Given the description of an element on the screen output the (x, y) to click on. 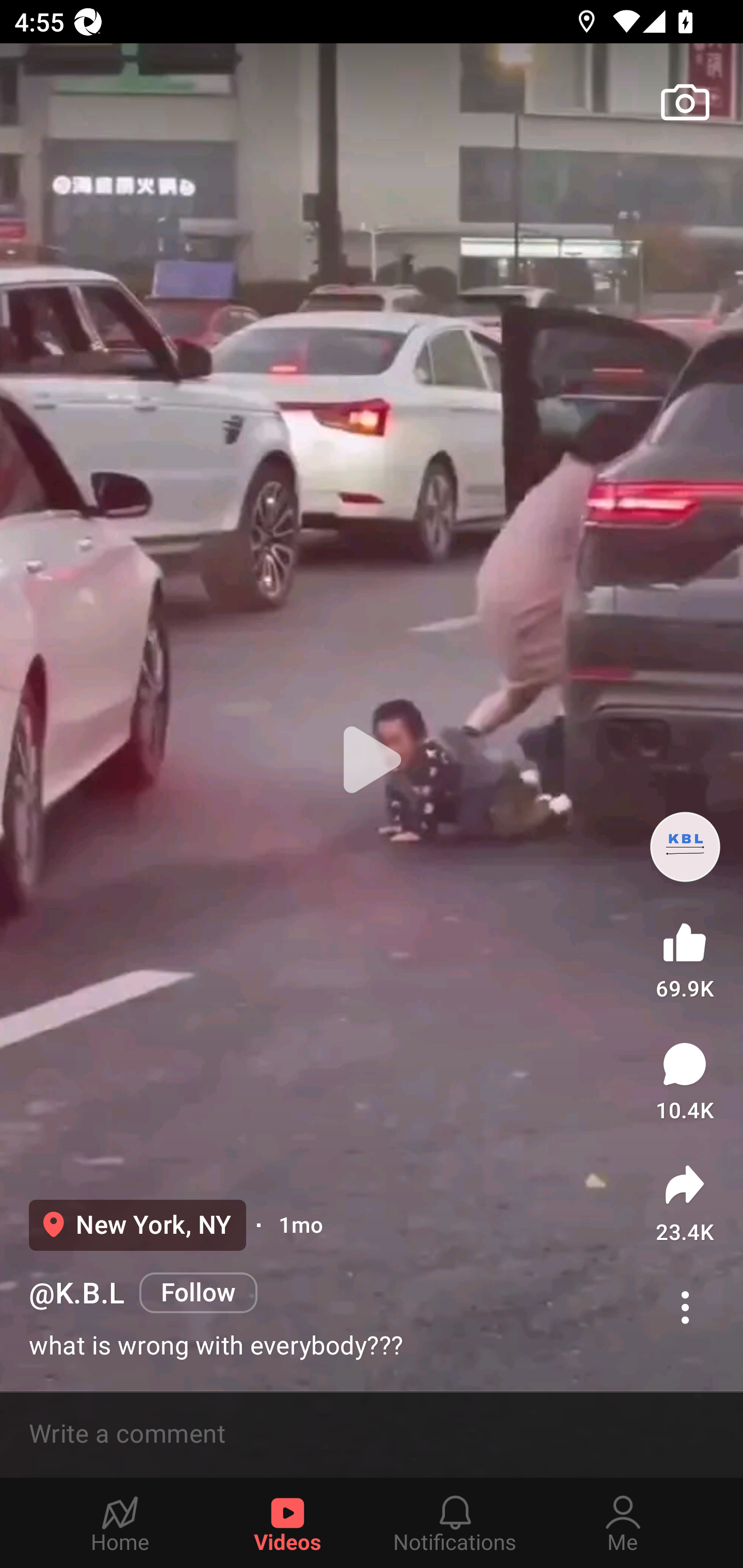
69.9K (684, 956)
10.4K (685, 1081)
23.4K (685, 1203)
New York, NY (136, 1225)
Follow (198, 1293)
@K.B.L (76, 1293)
Write a comment (371, 1433)
Home (119, 1522)
Notifications (455, 1522)
Me (622, 1522)
